Given the description of an element on the screen output the (x, y) to click on. 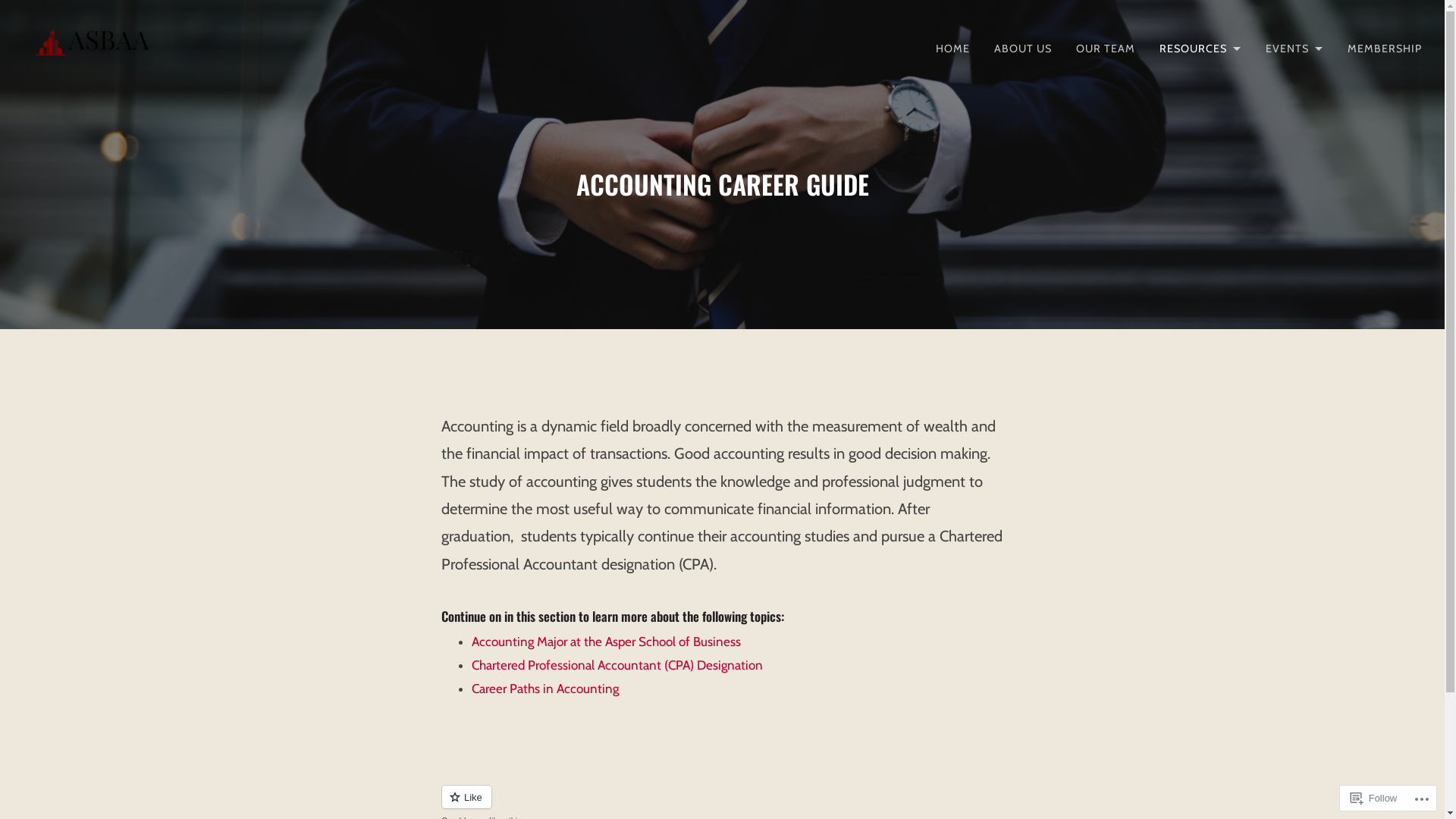
ASBAA Element type: text (52, 89)
MEMBERSHIP Element type: text (1384, 48)
ABOUT US Element type: text (1022, 48)
EVENTS Element type: text (1294, 48)
Career Paths in Accounting Element type: text (544, 688)
HOME Element type: text (952, 48)
OUR TEAM Element type: text (1105, 48)
Chartered Professional Accountant (CPA) Designation Element type: text (616, 664)
Follow Element type: text (1373, 797)
Accounting Major at the Asper School of Business Element type: text (605, 641)
RESOURCES Element type: text (1200, 48)
